Given the description of an element on the screen output the (x, y) to click on. 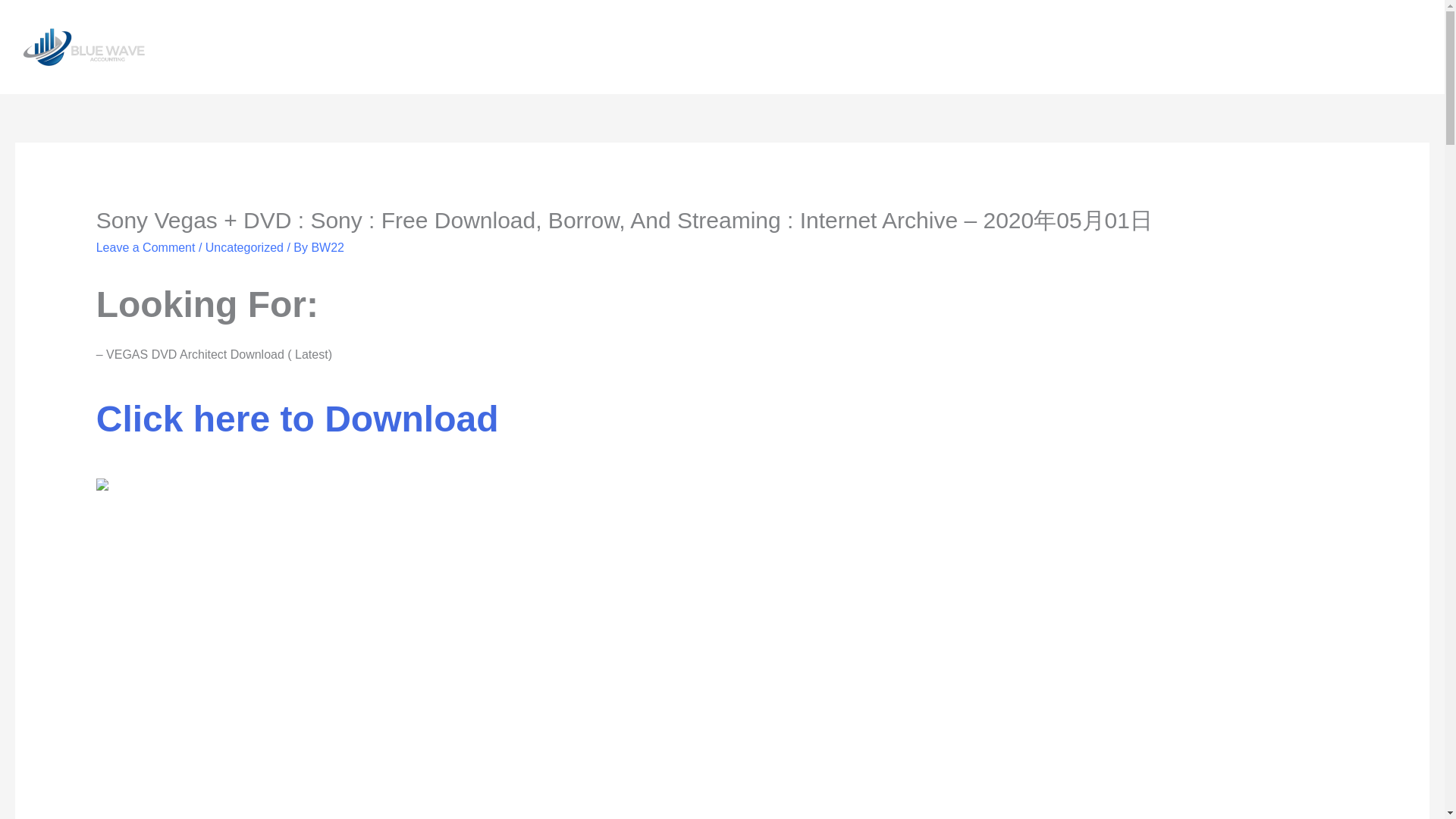
Get A Quote (1377, 47)
Contact (1135, 46)
Click here to Download (297, 427)
Leave a Comment (145, 246)
View all posts by BW22 (327, 246)
Pricing (1280, 46)
Uncategorized (244, 246)
About (1074, 46)
Services (1209, 46)
Home (1018, 46)
